Given the description of an element on the screen output the (x, y) to click on. 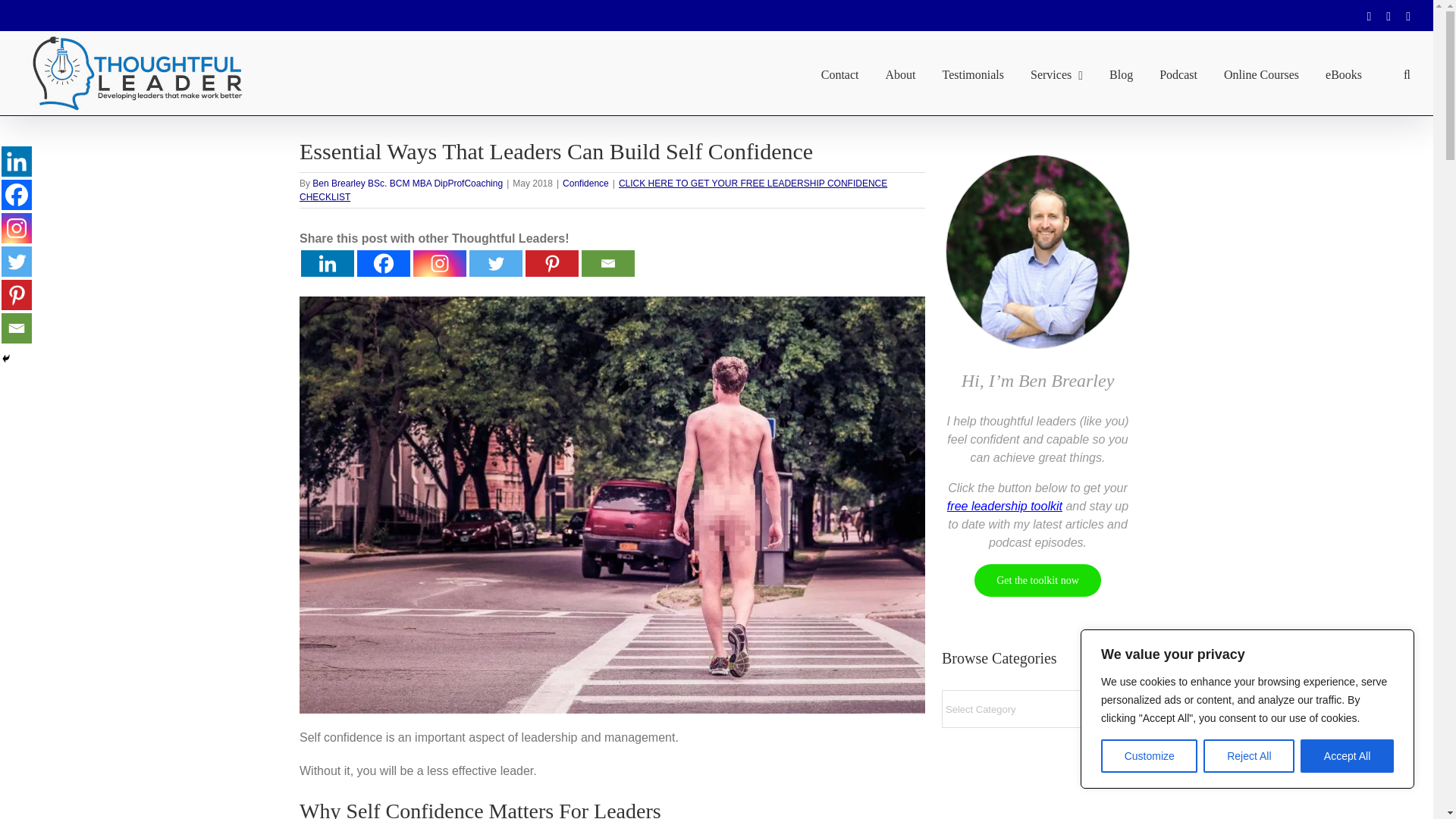
Linkedin (327, 263)
Online Courses (1261, 73)
Customize (1148, 756)
Ben Brearley BSc. BCM MBA DipProfCoaching (407, 183)
Confidence (585, 183)
Reject All (1249, 756)
Instagram (439, 263)
Facebook (16, 194)
Posts by Ben Brearley BSc. BCM MBA DipProfCoaching (407, 183)
Twitter (495, 263)
